Given the description of an element on the screen output the (x, y) to click on. 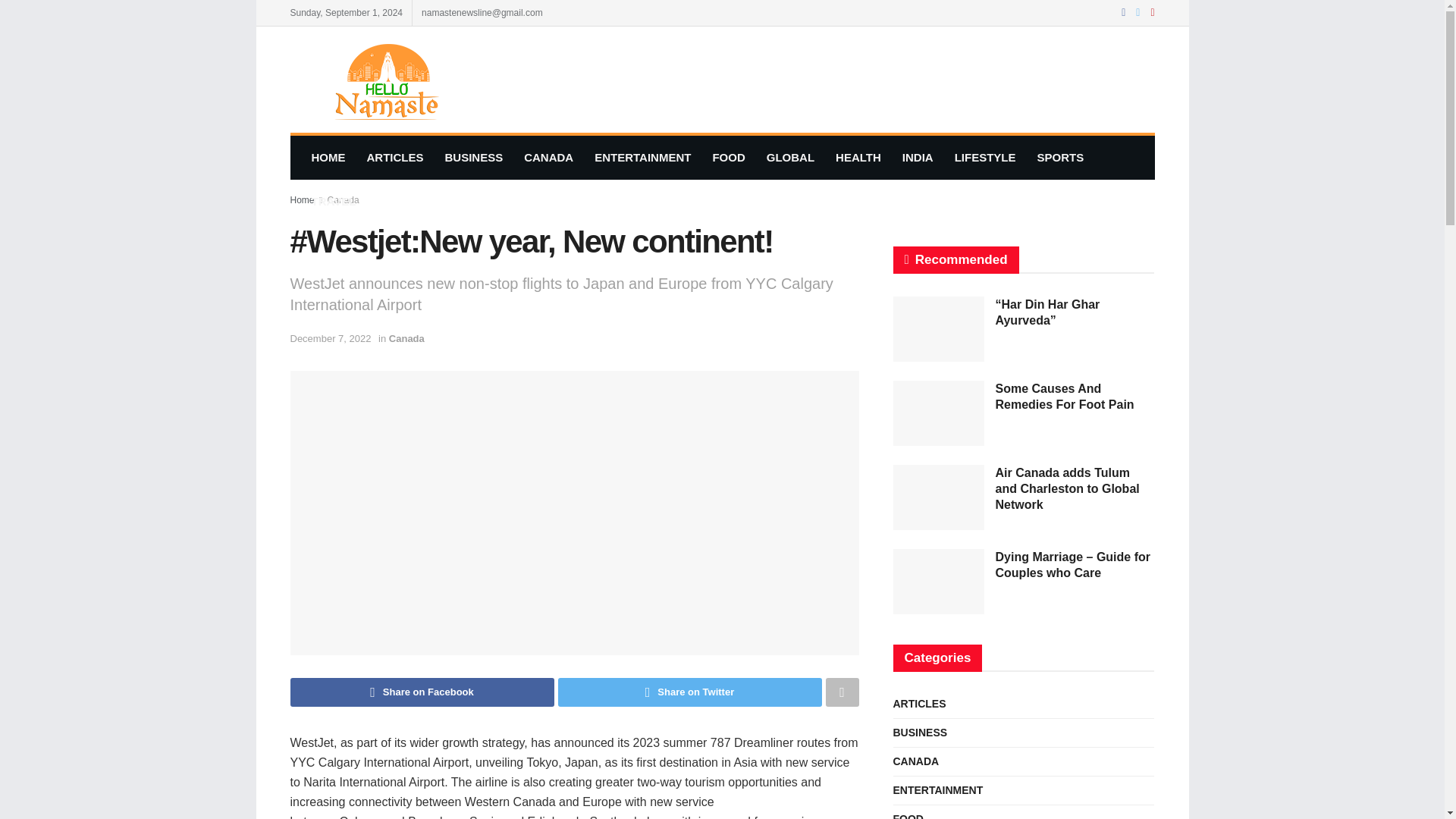
CANADA (548, 157)
ENTERTAINMENT (642, 157)
Canada (406, 337)
ARTICLES (394, 157)
Share on Facebook (421, 692)
FOOD (728, 157)
December 7, 2022 (330, 337)
HOME (327, 157)
BUSINESS (473, 157)
LIFESTYLE (984, 157)
